Given the description of an element on the screen output the (x, y) to click on. 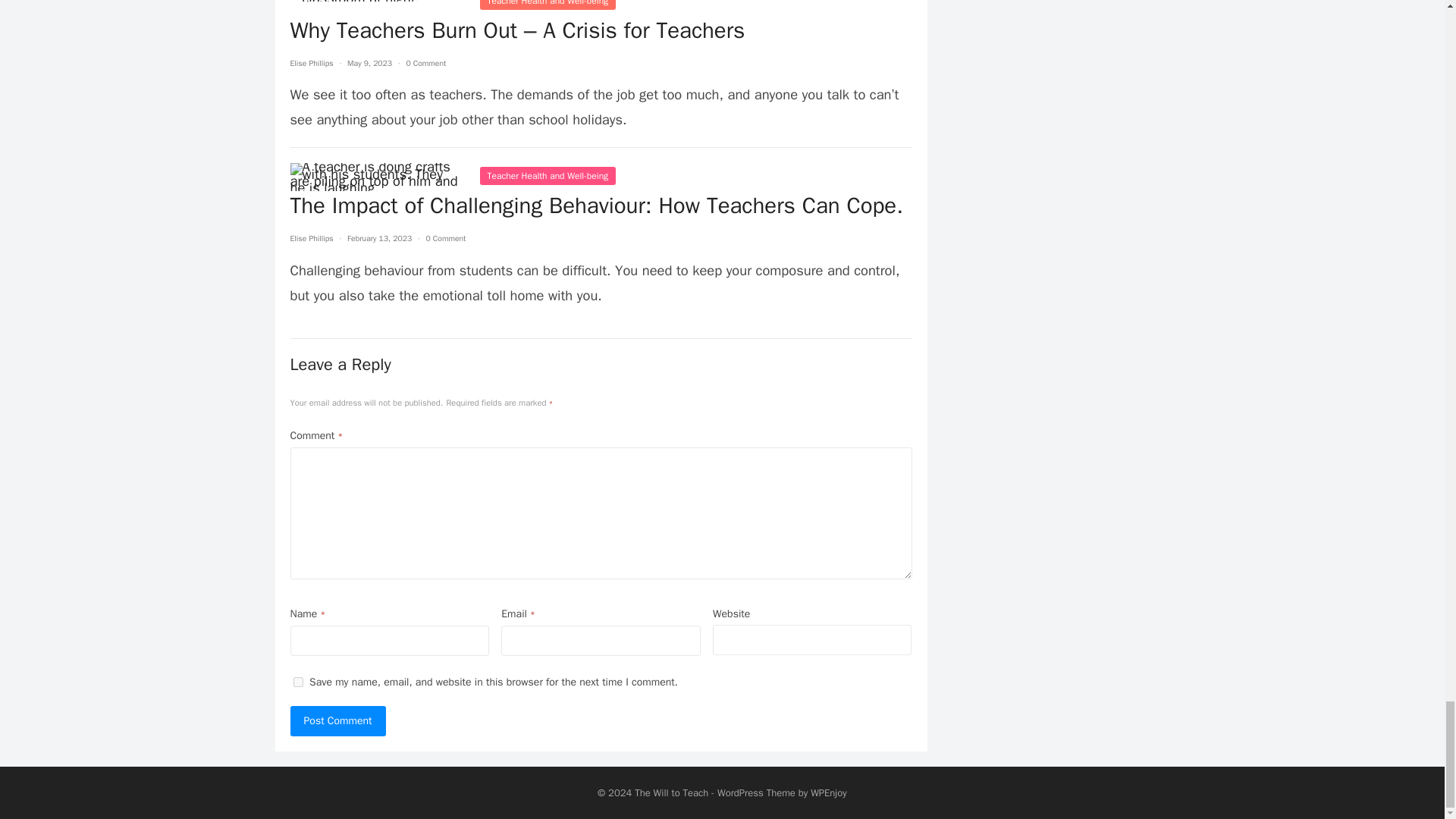
Post Comment (337, 720)
yes (297, 682)
Posts by Elise Phillips (311, 238)
Posts by Elise Phillips (311, 62)
